Given the description of an element on the screen output the (x, y) to click on. 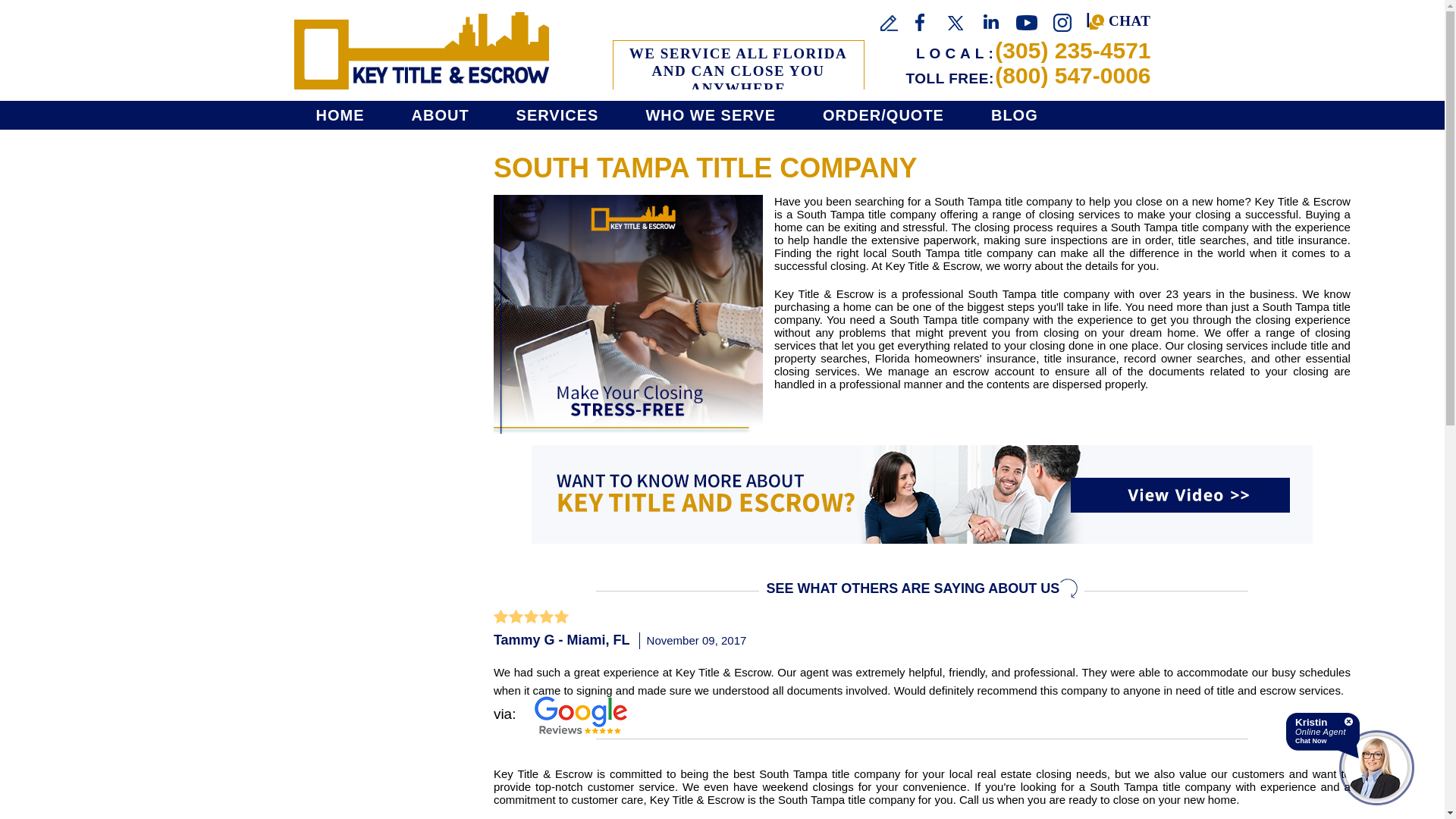
ABOUT (439, 114)
WHO WE SERVE (710, 114)
SERVICES (557, 114)
About (439, 114)
Florida Title and Escrow Company (343, 114)
Write a Review (888, 23)
Services (557, 114)
HOME (343, 114)
Florida Title and Escrow Company (421, 50)
